Given the description of an element on the screen output the (x, y) to click on. 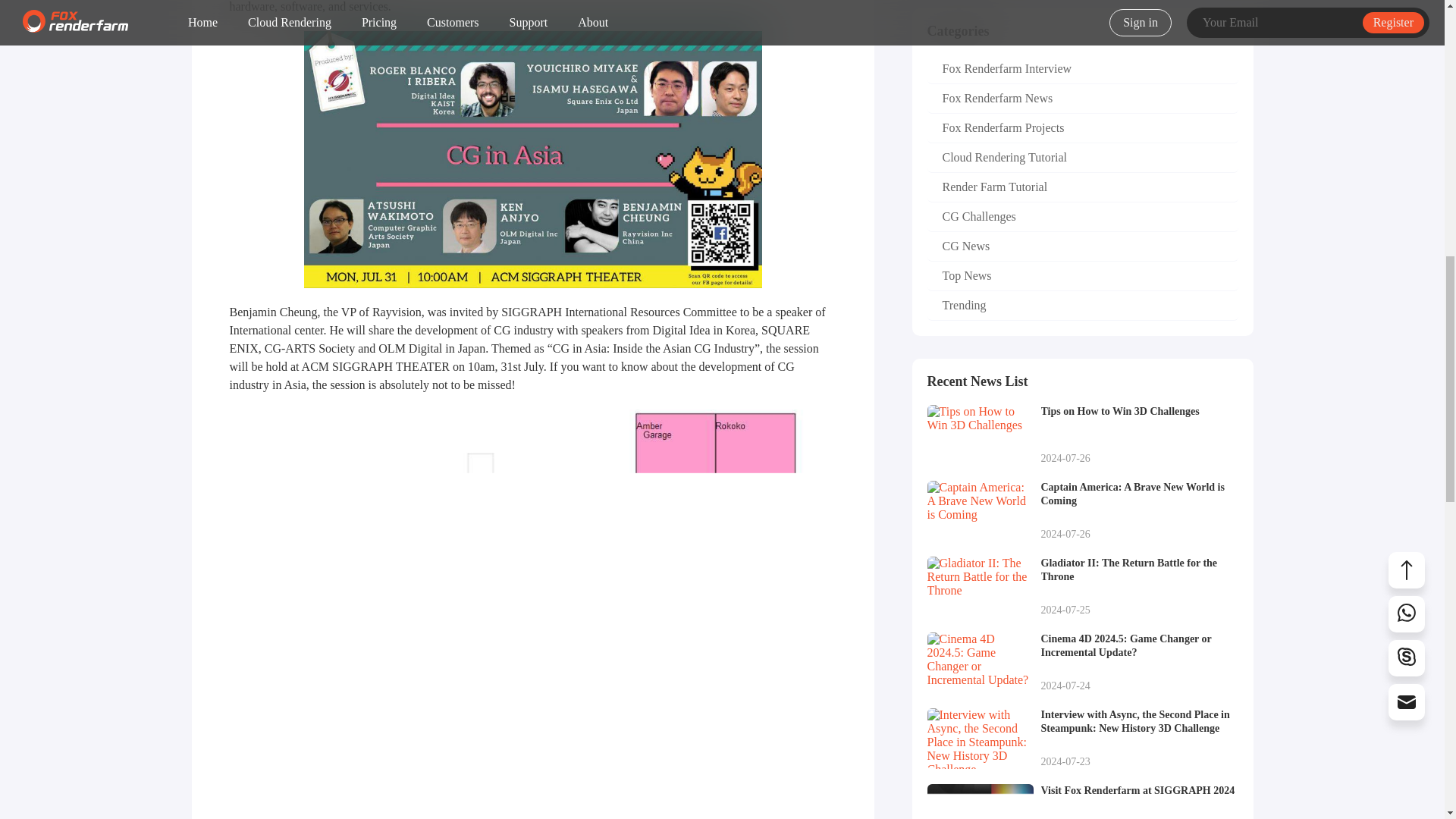
Fox Renderfarm Projects (1081, 128)
CG Challenges (1081, 216)
Top News (1081, 276)
Fox Renderfarm News (1081, 98)
Trending (1081, 306)
Render Farm Tutorial (1081, 435)
CG News (1081, 187)
Fox Renderfarm Interview (1081, 246)
Cloud Rendering Tutorial (1081, 510)
